Given the description of an element on the screen output the (x, y) to click on. 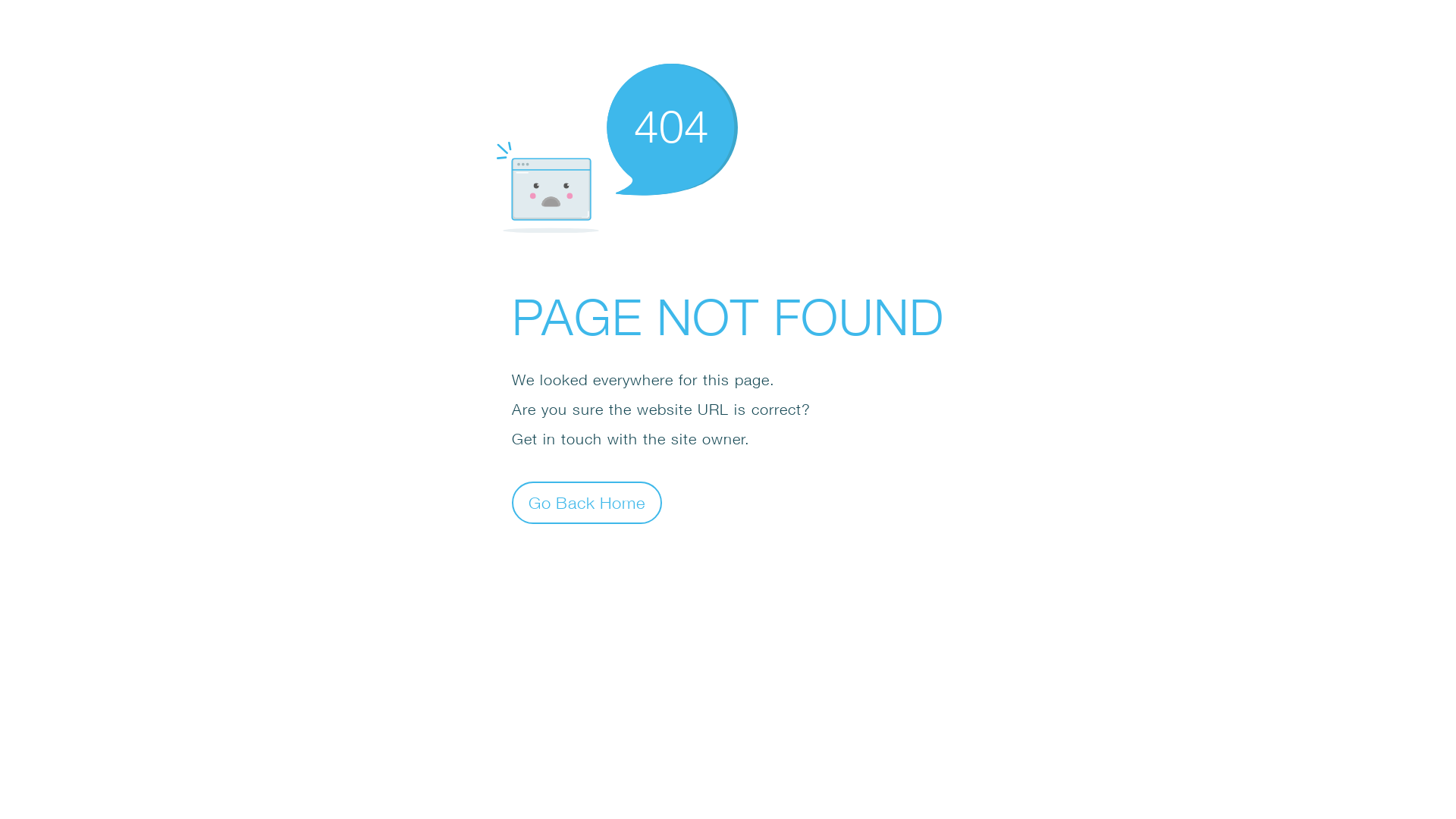
Go Back Home Element type: text (586, 502)
